Given the description of an element on the screen output the (x, y) to click on. 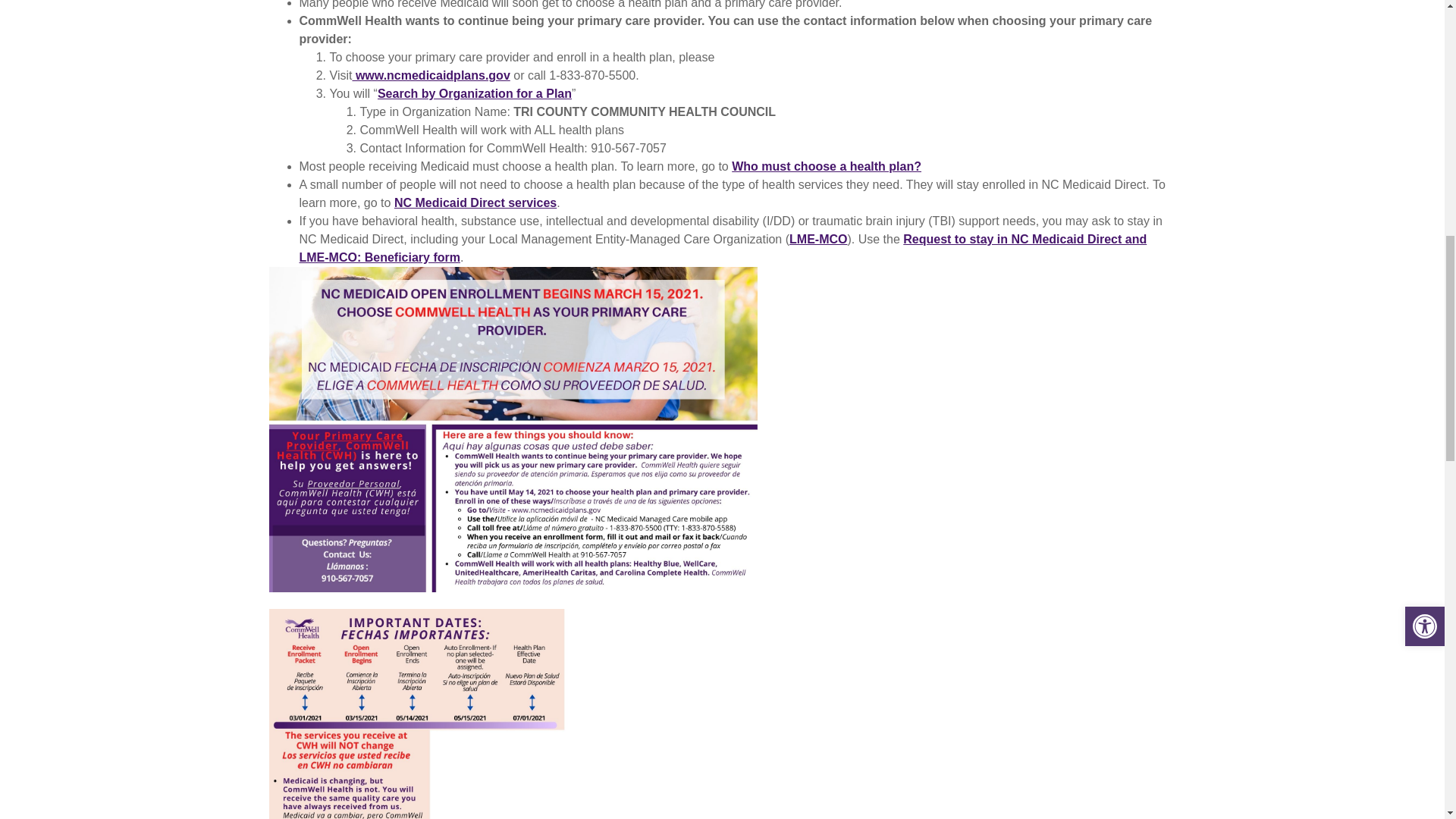
Who must choose a health plan? (826, 165)
LME-MCO (818, 238)
NC Medicaid Direct services (475, 202)
